Given the description of an element on the screen output the (x, y) to click on. 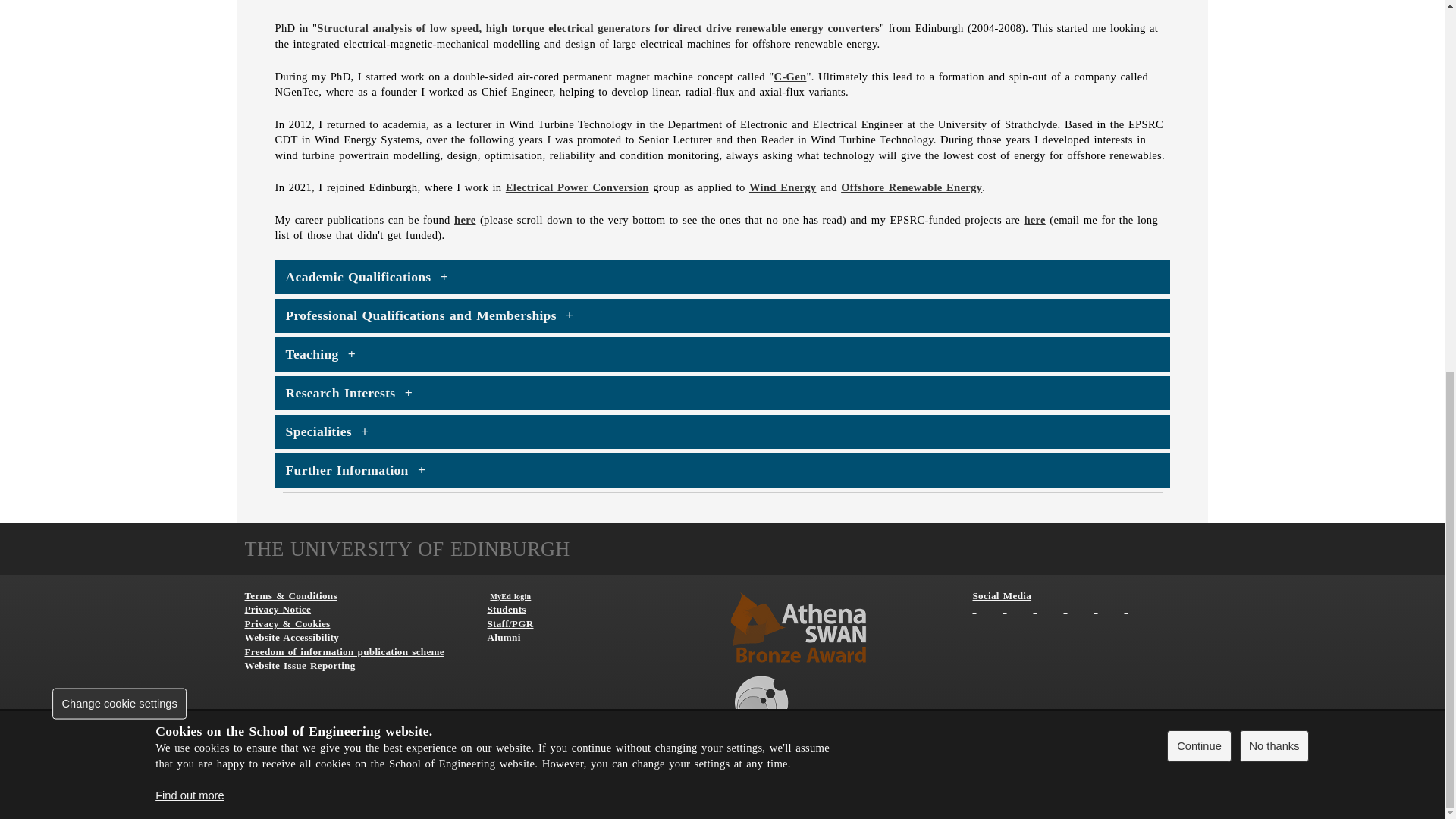
Find out more (189, 119)
C-Gen (790, 76)
Change cookie settings (119, 27)
Continue (1198, 69)
here (465, 219)
Electrical Power Conversion (577, 186)
here (1034, 219)
Offshore Renewable Energy (911, 186)
Wind Energy (782, 186)
No thanks (1274, 69)
